Given the description of an element on the screen output the (x, y) to click on. 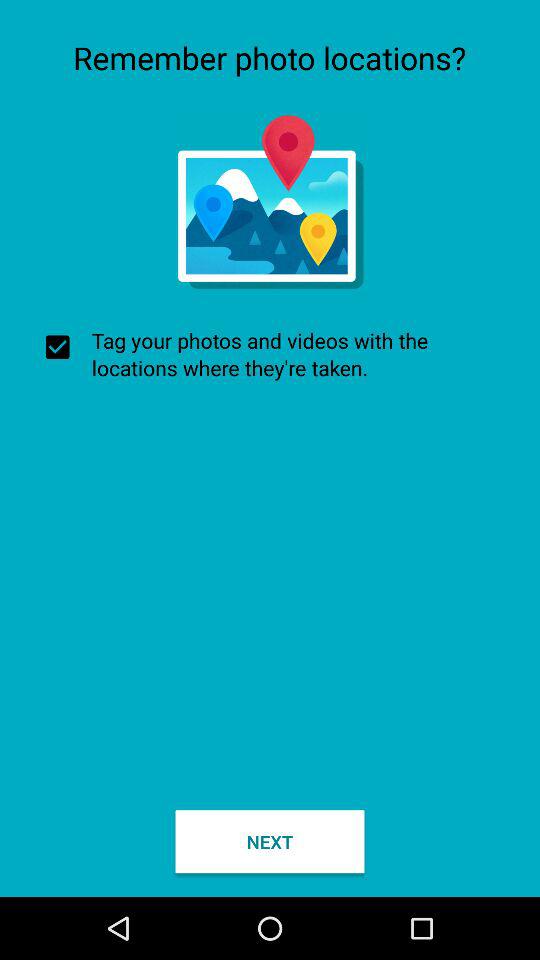
press the item at the bottom (269, 841)
